Given the description of an element on the screen output the (x, y) to click on. 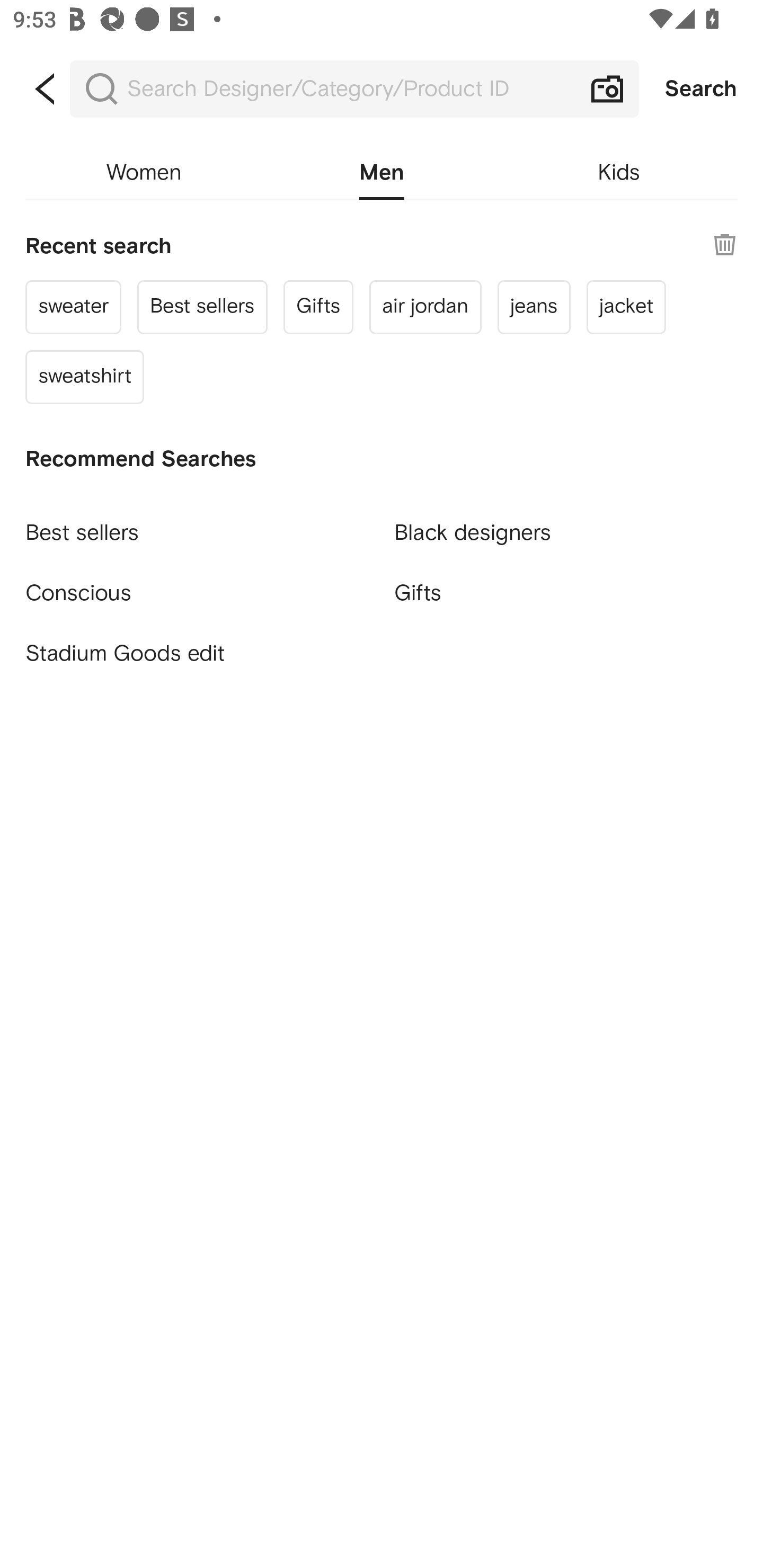
Search (701, 89)
Women (143, 172)
Kids (618, 172)
sweater (73, 306)
Best sellers (202, 306)
Gifts (318, 306)
air jordan (425, 306)
jeans (533, 306)
jacket (626, 306)
sweatshirt (84, 376)
Best sellers (196, 525)
Black designers (565, 525)
Conscious (196, 585)
Gifts (565, 593)
Stadium Goods edit (196, 653)
